Given the description of an element on the screen output the (x, y) to click on. 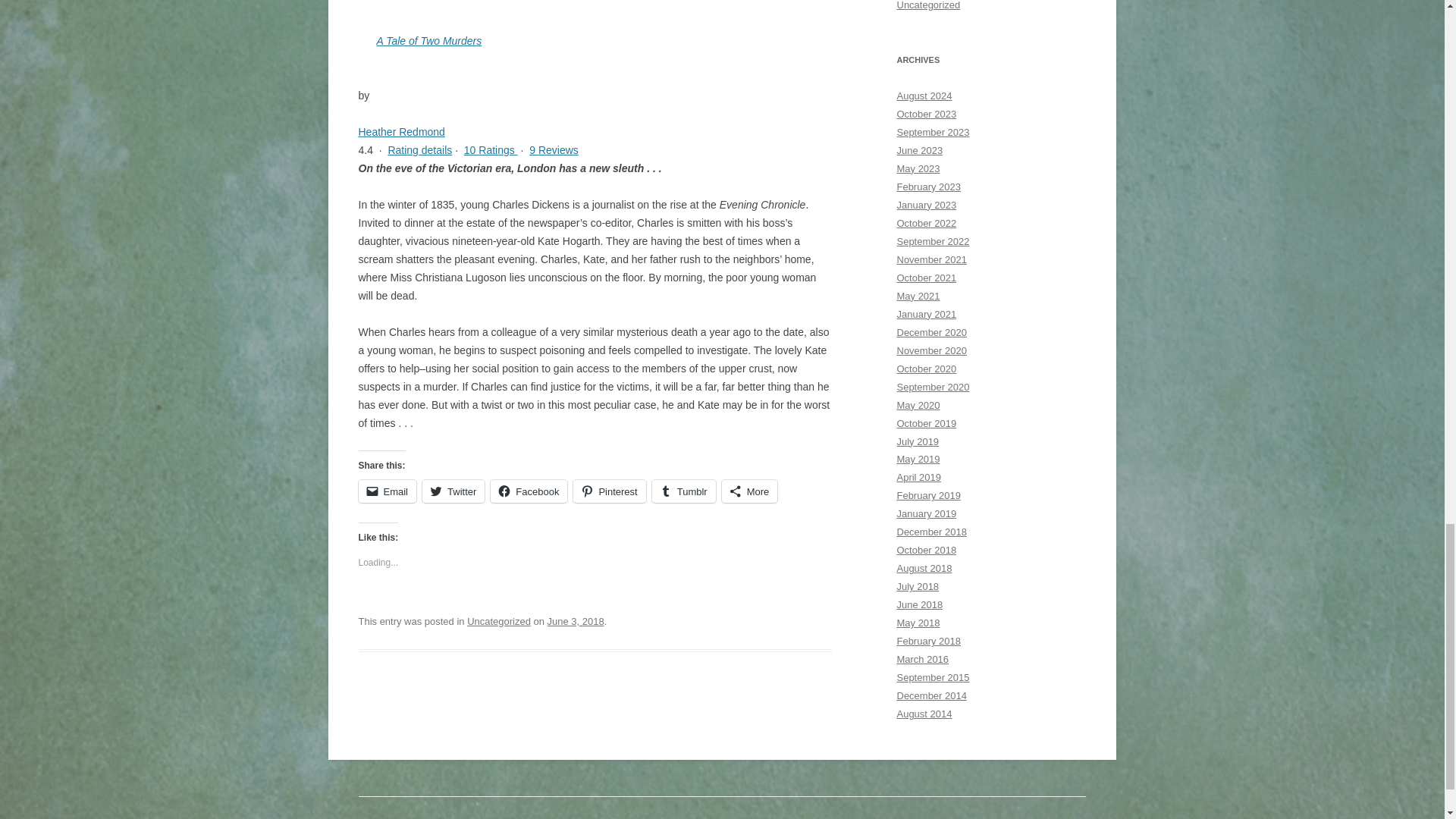
10 (471, 150)
A Tale of Two Murders (428, 40)
Click to email a link to a friend (387, 490)
Heather Redmond (401, 132)
